Given the description of an element on the screen output the (x, y) to click on. 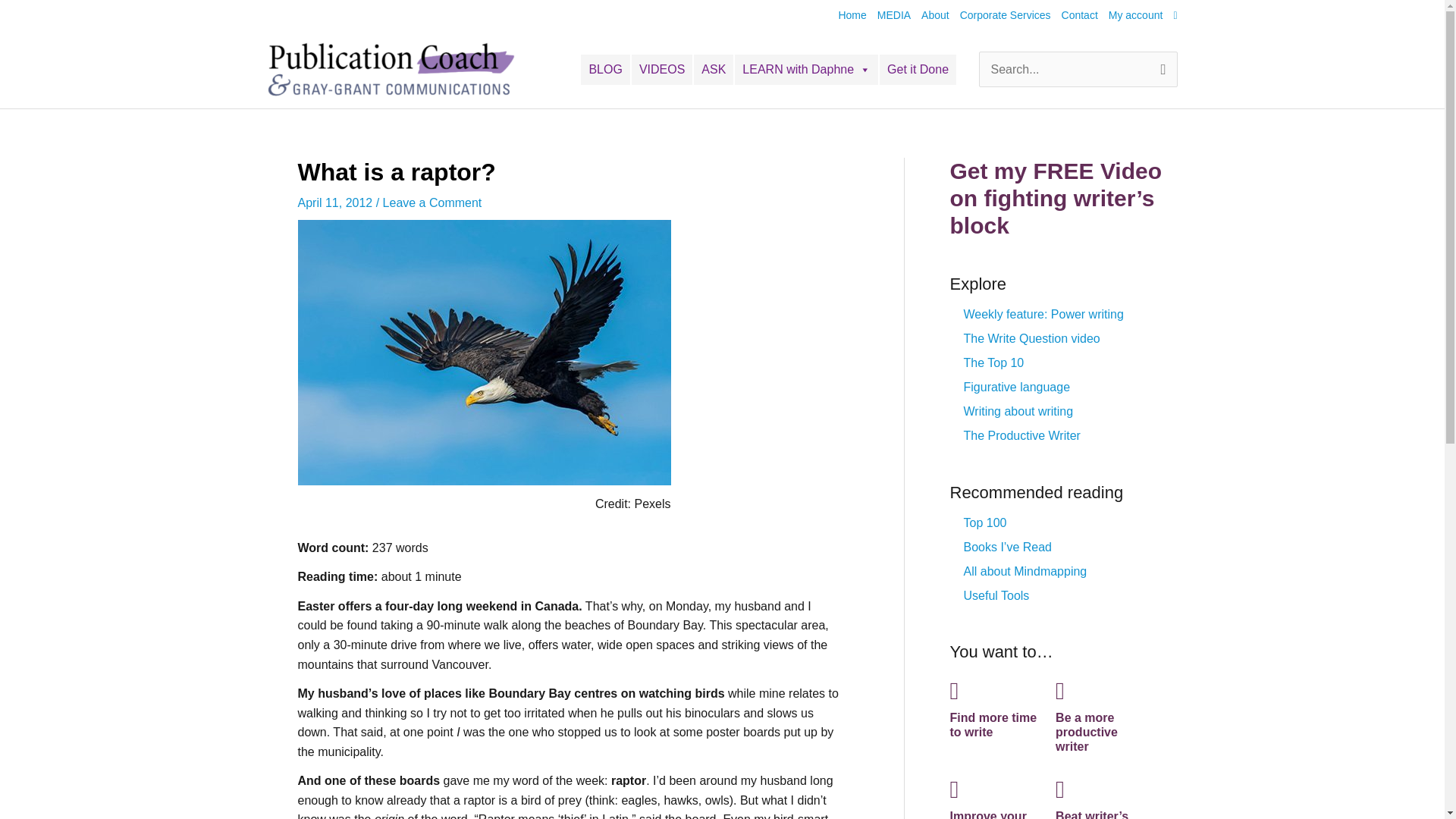
Search (1141, 72)
BLOG (604, 69)
The Top 10 (992, 362)
Leave a Comment (431, 202)
LEARN with Daphne (806, 69)
Writing about writing (1017, 410)
Corporate Services (1000, 15)
Weekly feature: Power writing (1042, 314)
Home (846, 15)
My account (1130, 15)
Search (1141, 72)
The Write Question video (1030, 338)
MEDIA (888, 15)
Search (1141, 72)
About (930, 15)
